Given the description of an element on the screen output the (x, y) to click on. 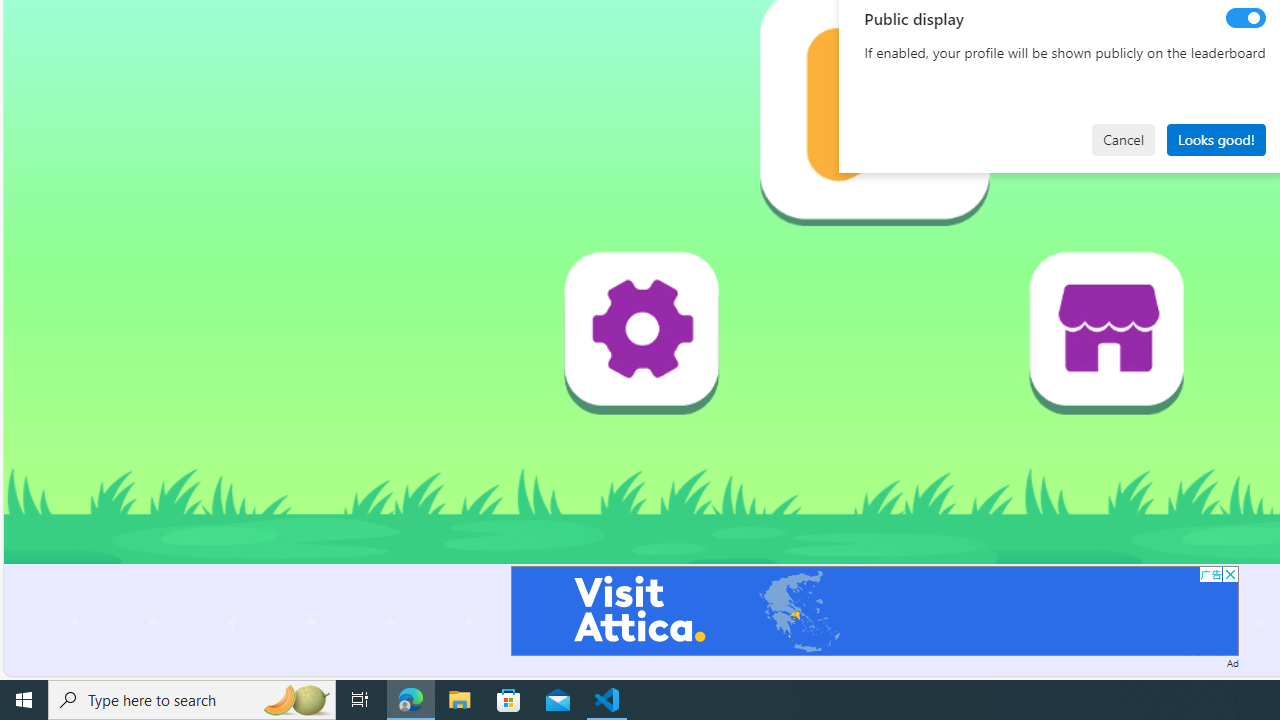
Advertisement (874, 610)
Cancel (1123, 139)
AutomationID: cbb (1229, 574)
Ad (1232, 661)
Advertisement (874, 610)
Looks good! (1216, 139)
